Given the description of an element on the screen output the (x, y) to click on. 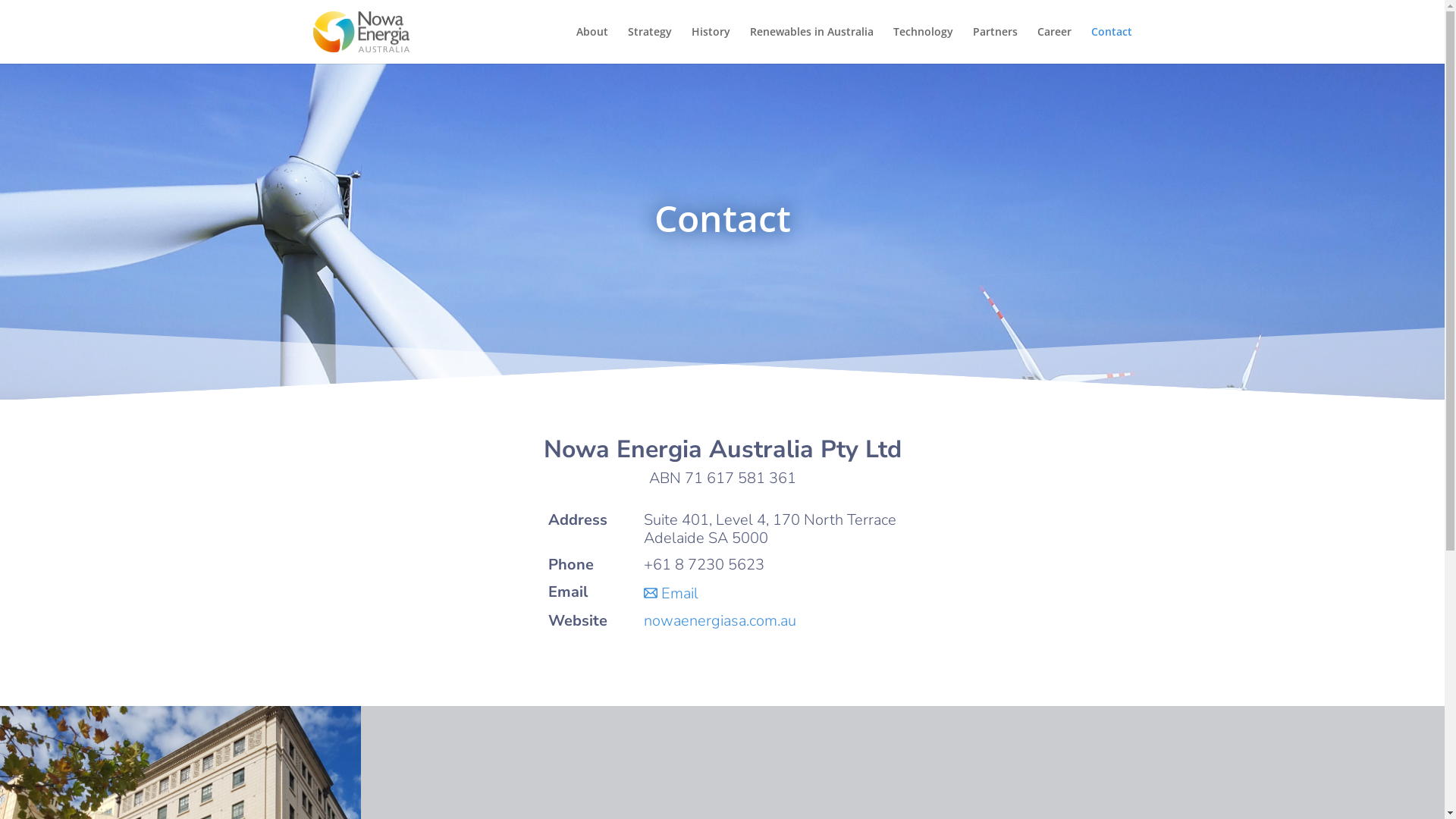
Technology Element type: text (923, 44)
Email Element type: text (670, 593)
About Element type: text (592, 44)
Renewables in Australia Element type: text (810, 44)
Contact Element type: text (1110, 44)
Partners Element type: text (994, 44)
Strategy Element type: text (649, 44)
nowaenergiasa.com.au Element type: text (719, 620)
History Element type: text (710, 44)
Career Element type: text (1054, 44)
